Given the description of an element on the screen output the (x, y) to click on. 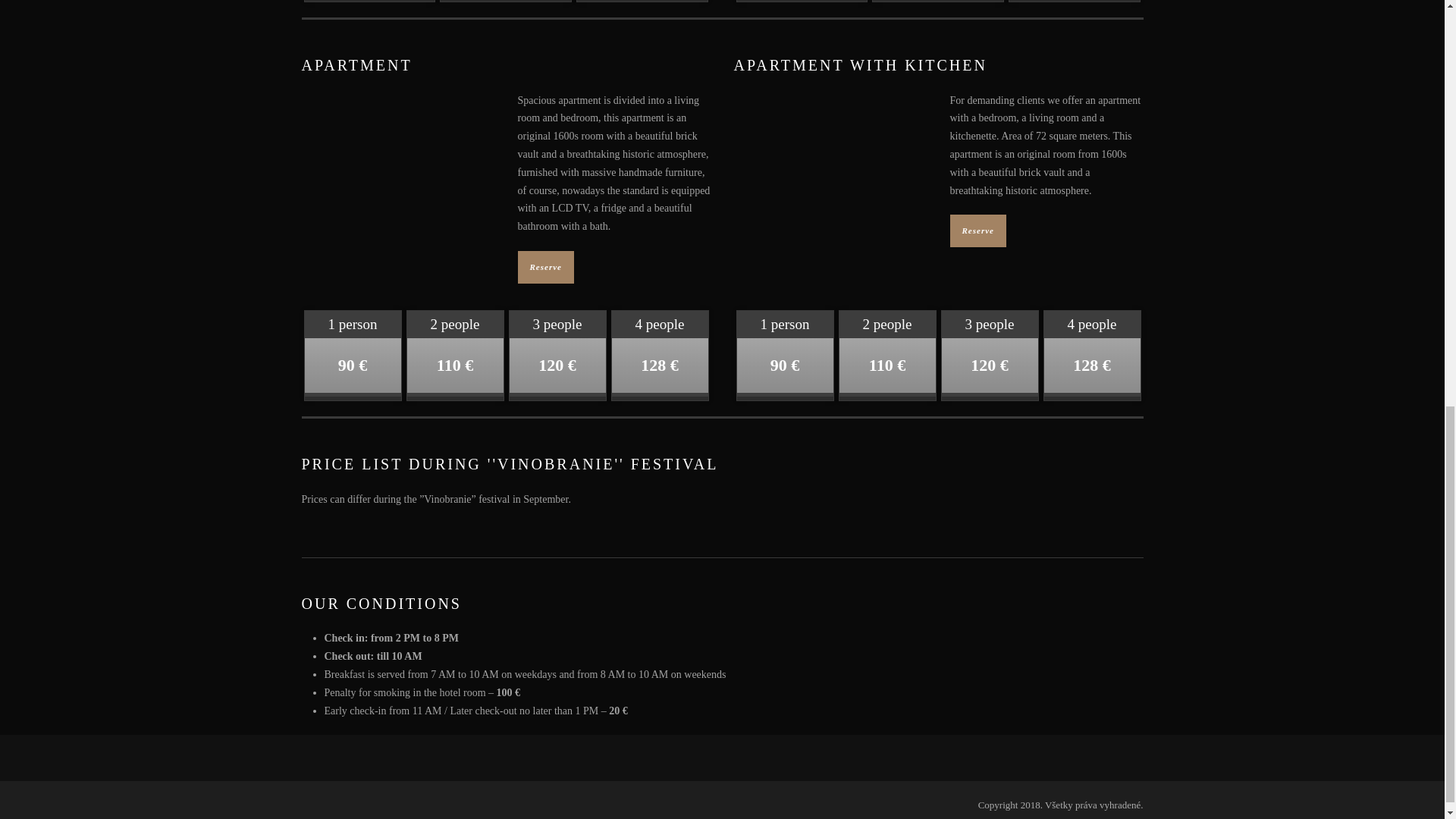
Reserve (977, 230)
Reserve (544, 266)
